Given the description of an element on the screen output the (x, y) to click on. 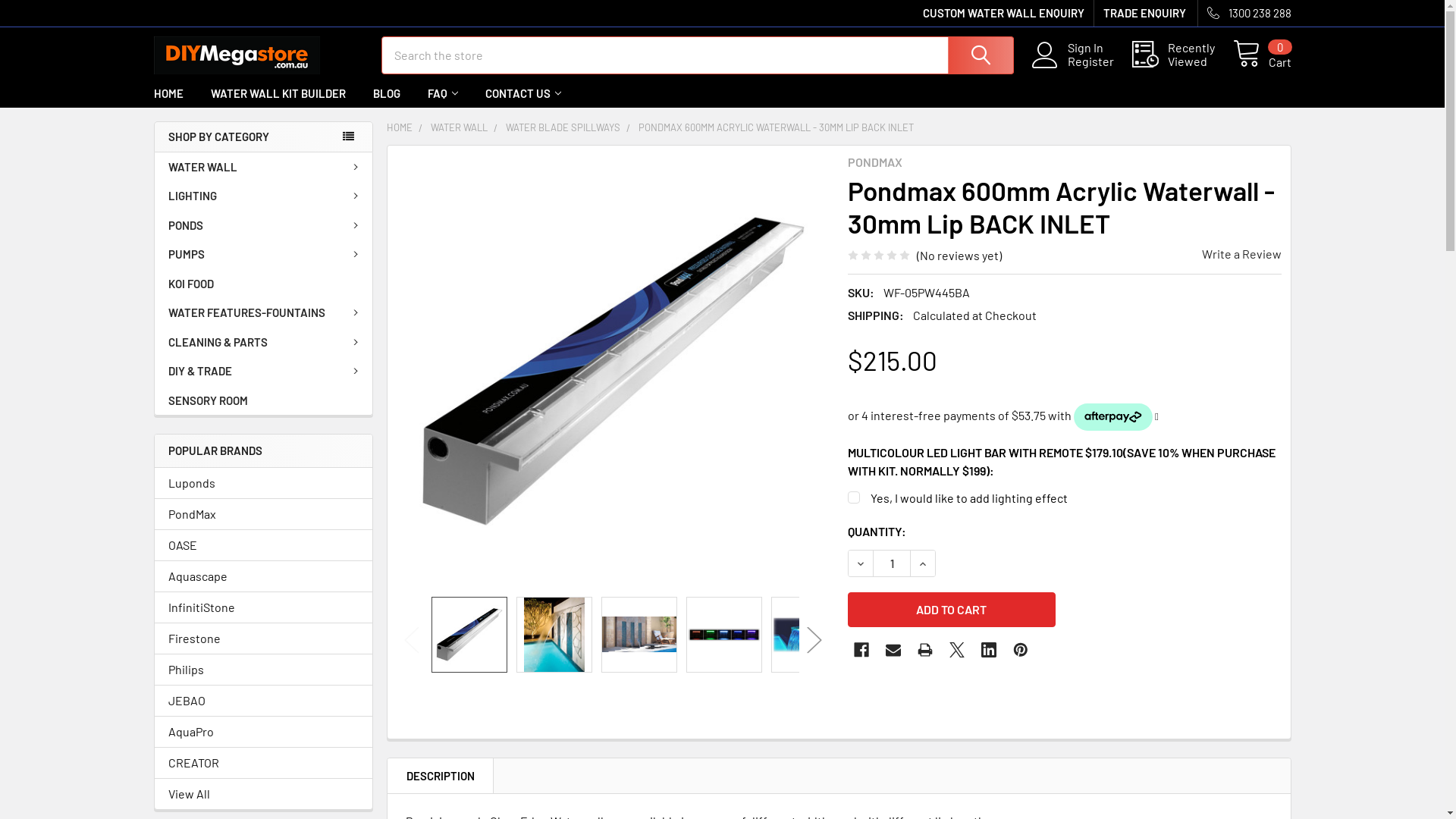
Print Element type: text (924, 649)
CREATOR Element type: text (263, 762)
Previous Element type: text (411, 640)
PONDMAX 600MM ACRYLIC WATERWALL - 30MM LIP BACK INLET Element type: text (775, 127)
SENSORY ROOM Element type: text (263, 399)
DESCRIPTION Element type: text (440, 775)
Recently
Viewed Element type: text (1181, 54)
WATER FEATURES-FOUNTAINS Element type: text (263, 312)
DIY & TRADE Element type: text (263, 370)
LIGHTING Element type: text (263, 195)
PONDS Element type: text (263, 225)
Pondmax 600mm Acrylic Waterwall - 30mm Lip BACK INLET Element type: hover (808, 634)
CUSTOM WATER WALL ENQUIRY Element type: text (1002, 13)
Philips Element type: text (263, 669)
Register Element type: text (1099, 61)
Search Element type: text (978, 55)
600mm Acrylic Waterwalls - 30mm Lip Element type: hover (613, 371)
JEBAO Element type: text (263, 700)
Linkedin Element type: text (988, 649)
DIYMegaStore.com.au Element type: hover (236, 55)
Luponds Element type: text (263, 482)
WATER WALL Element type: text (263, 166)
Email Element type: text (892, 649)
TRADE ENQUIRY Element type: text (1139, 13)
PondMax Element type: text (263, 514)
OASE Element type: text (263, 545)
600mm Acrylic Waterwalls - 30mm Lip Element type: hover (469, 634)
View All Element type: text (263, 793)
BLOG Element type: text (386, 93)
Pondmax 600mm Acrylic Waterwall - 30mm Lip BACK INLET Element type: hover (724, 634)
HOME Element type: text (167, 93)
Add to Cart Element type: text (951, 609)
SHOP BY CATEGORY Element type: text (262, 136)
InfinitiStone Element type: text (263, 607)
PUMPS Element type: text (263, 254)
Firestone Element type: text (263, 638)
KOI FOOD Element type: text (263, 283)
FAQ Element type: text (442, 93)
Next Element type: text (814, 640)
Aquascape Element type: text (263, 576)
WATER WALL Element type: text (458, 127)
WATER BLADE SPILLWAYS Element type: text (562, 127)
Facebook Element type: text (861, 649)
Write a Review Element type: text (1240, 253)
Pondmax 600mm Acrylic Waterwall - 30mm Lip BACK INLET Element type: hover (554, 634)
CONTACT US Element type: text (522, 93)
WATER WALL KIT BUILDER Element type: text (278, 93)
X Element type: text (956, 649)
CLEANING & PARTS Element type: text (263, 342)
Cart
0 Element type: text (1262, 54)
AquaPro Element type: text (263, 731)
1300 238 288 Element type: text (1244, 13)
PONDMAX Element type: text (874, 161)
Pinterest Element type: text (1020, 649)
HOME Element type: text (399, 127)
Sign In Element type: text (1099, 47)
Pondmax 600mm Acrylic Waterwall - 30mm Lip BACK INLET Element type: hover (639, 634)
